Given the description of an element on the screen output the (x, y) to click on. 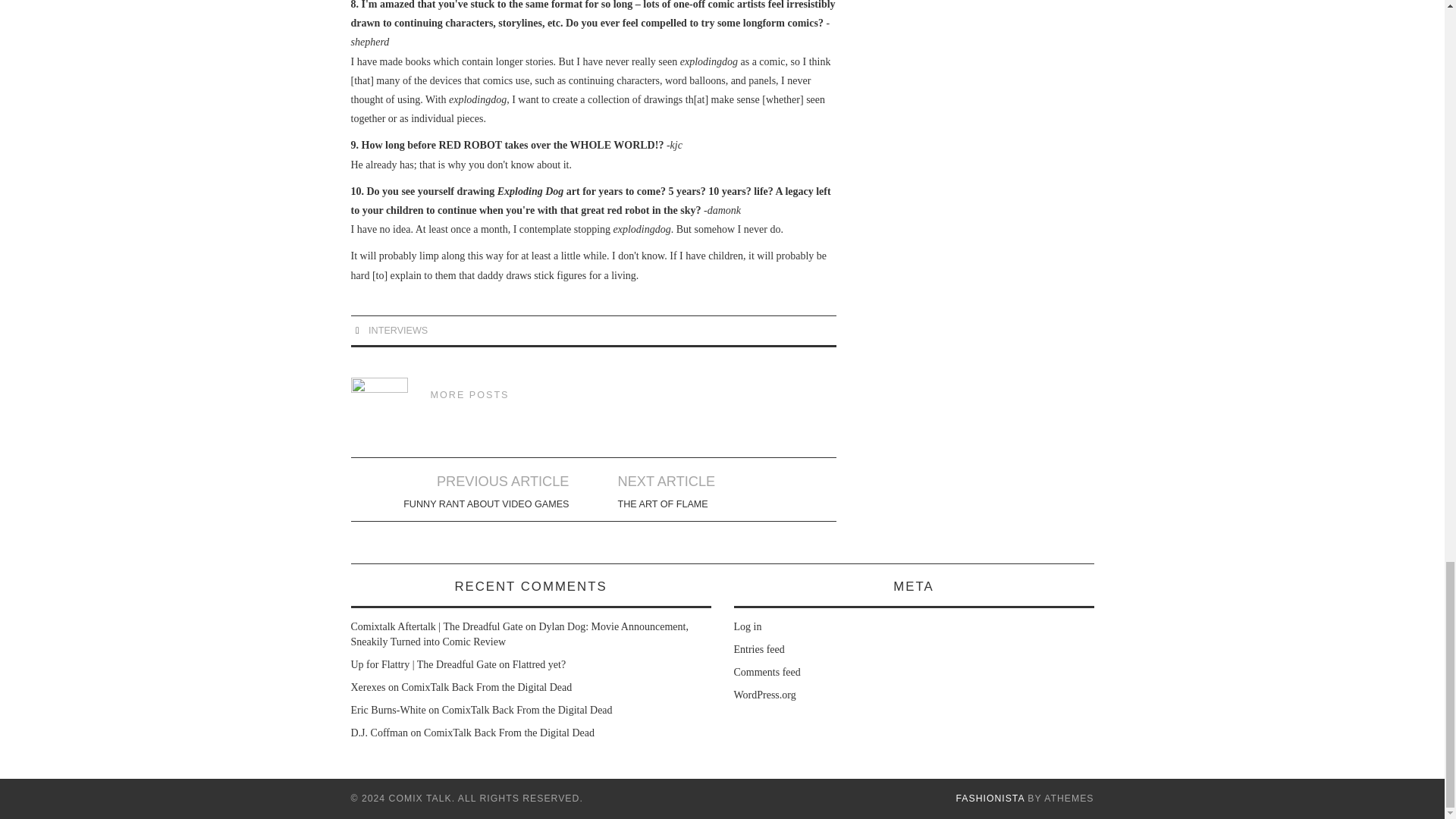
MORE POSTS (469, 394)
THE ART OF FLAME (662, 503)
FUNNY RANT ABOUT VIDEO GAMES (486, 503)
INTERVIEWS (398, 330)
